Given the description of an element on the screen output the (x, y) to click on. 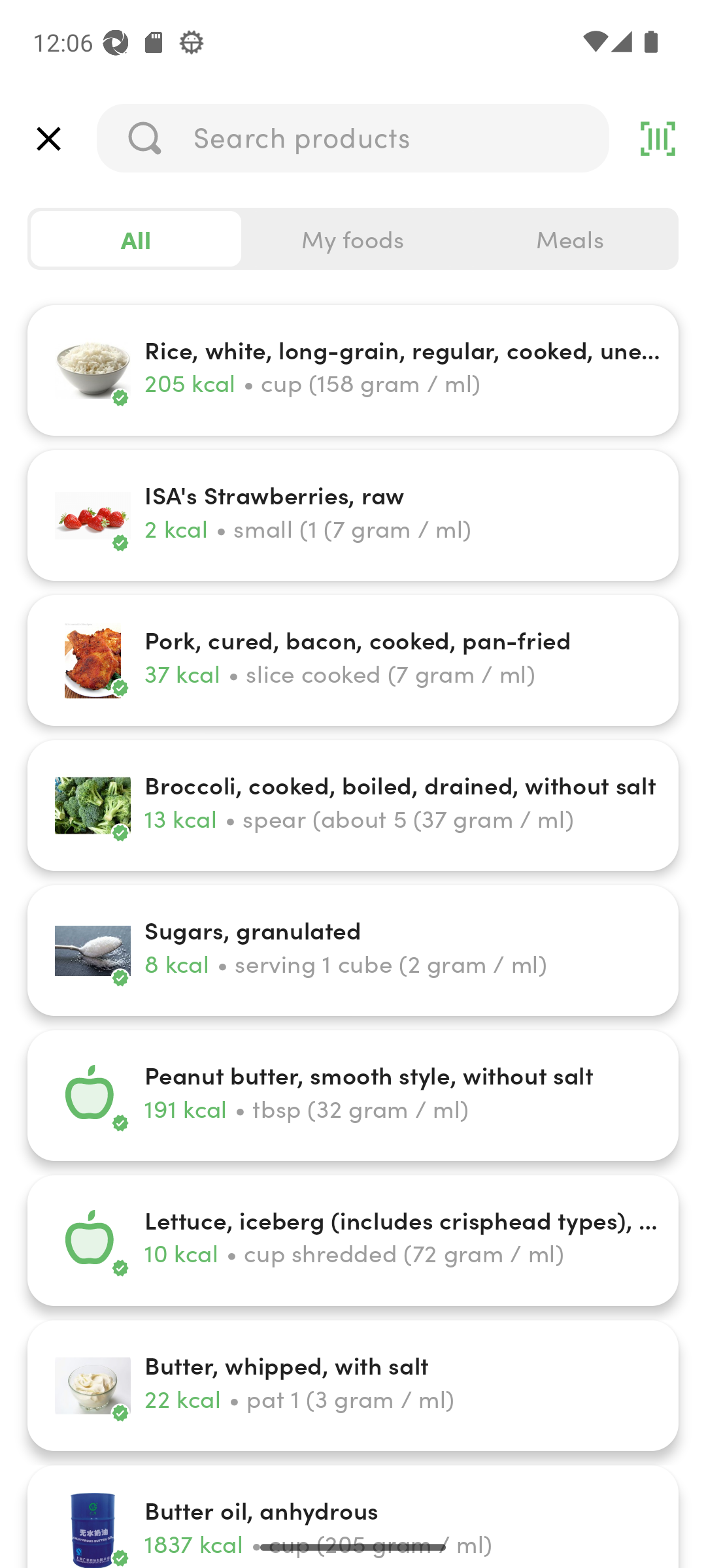
top_left_action (48, 138)
top_right_action (658, 138)
My foods (352, 238)
Meals (569, 238)
